Given the description of an element on the screen output the (x, y) to click on. 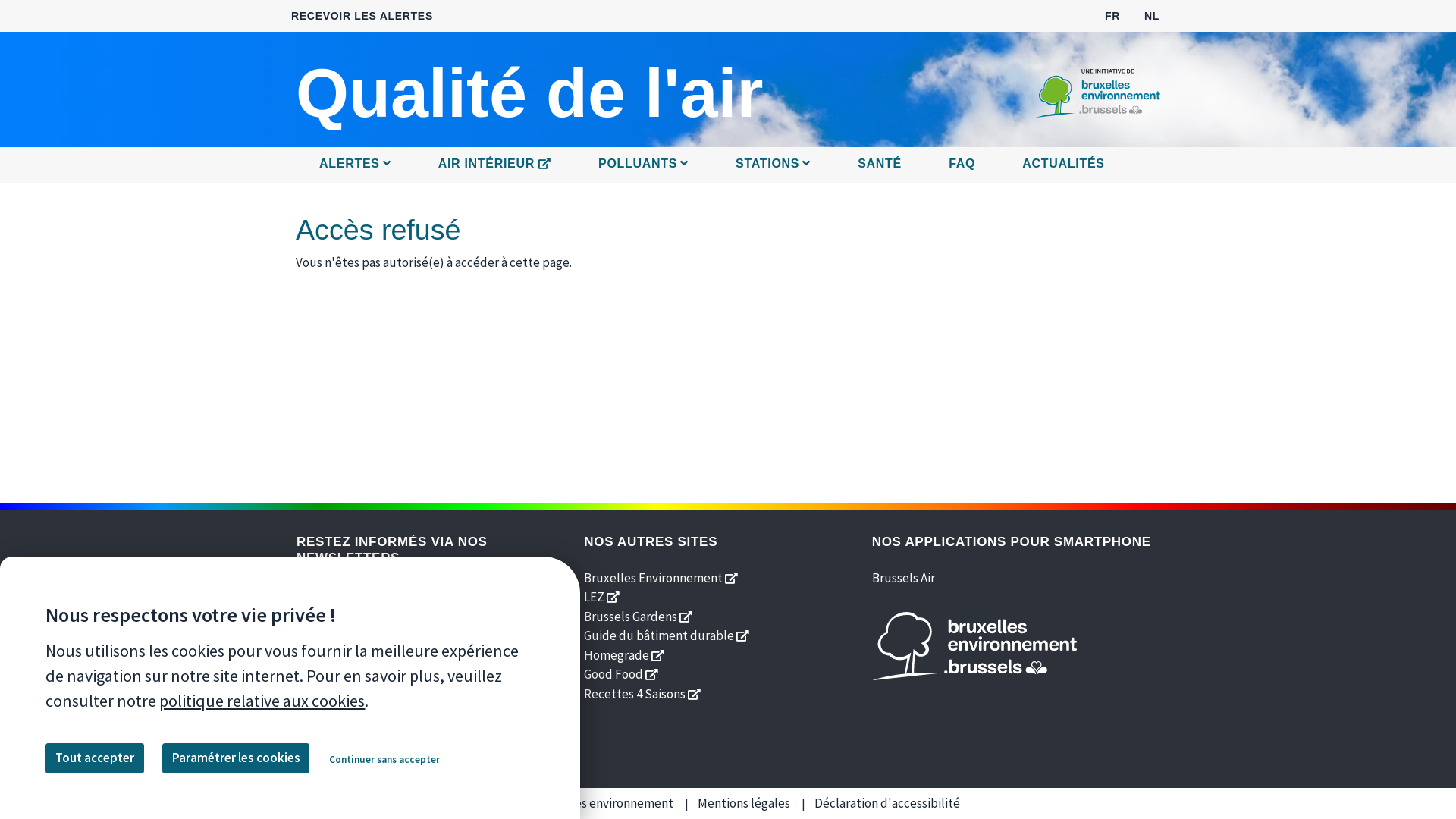
FR Element type: text (1112, 15)
Tout accepter Element type: text (94, 758)
RECEVOIR LES ALERTES Element type: text (361, 16)
politique relative aux cookies Element type: text (261, 700)
FAQ Element type: text (961, 164)
Youtube Element type: text (379, 686)
ALERTES Element type: text (354, 164)
POLLUANTS Element type: text (643, 164)
Continuer sans accepter Element type: text (384, 759)
Aller au contenu principal Element type: text (727, 1)
Instagram Element type: text (449, 686)
Linkedin Element type: text (414, 686)
STATIONS Element type: text (773, 164)
Facebook Element type: text (309, 686)
Twitter Element type: text (344, 686)
Brussels Air Element type: text (903, 576)
NL Element type: text (1151, 15)
